Given the description of an element on the screen output the (x, y) to click on. 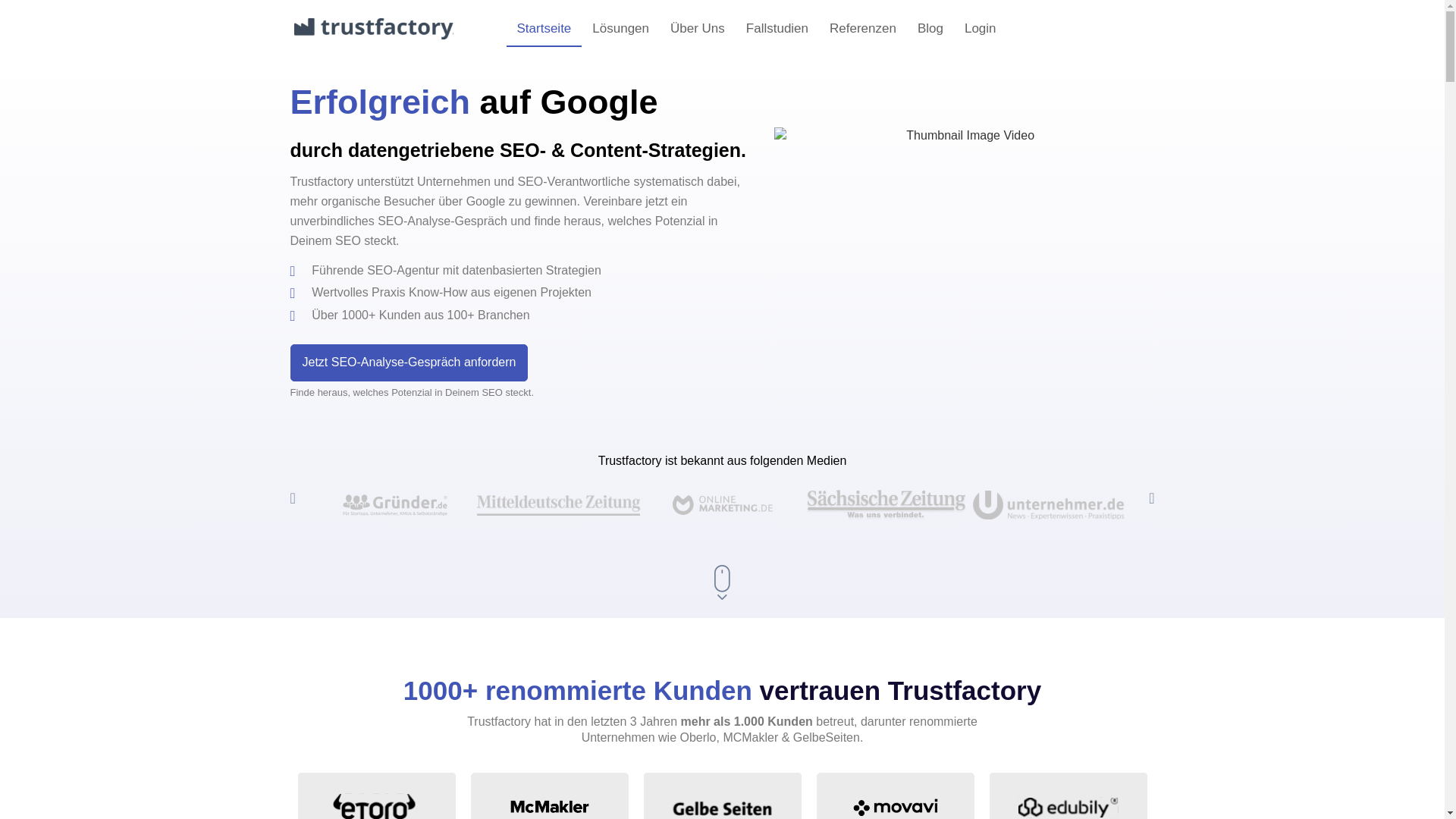
Login Element type: text (980, 28)
Fallstudien Element type: text (777, 28)
Blog Element type: text (929, 28)
Startseite Element type: text (544, 28)
Referenzen Element type: text (862, 28)
